Given the description of an element on the screen output the (x, y) to click on. 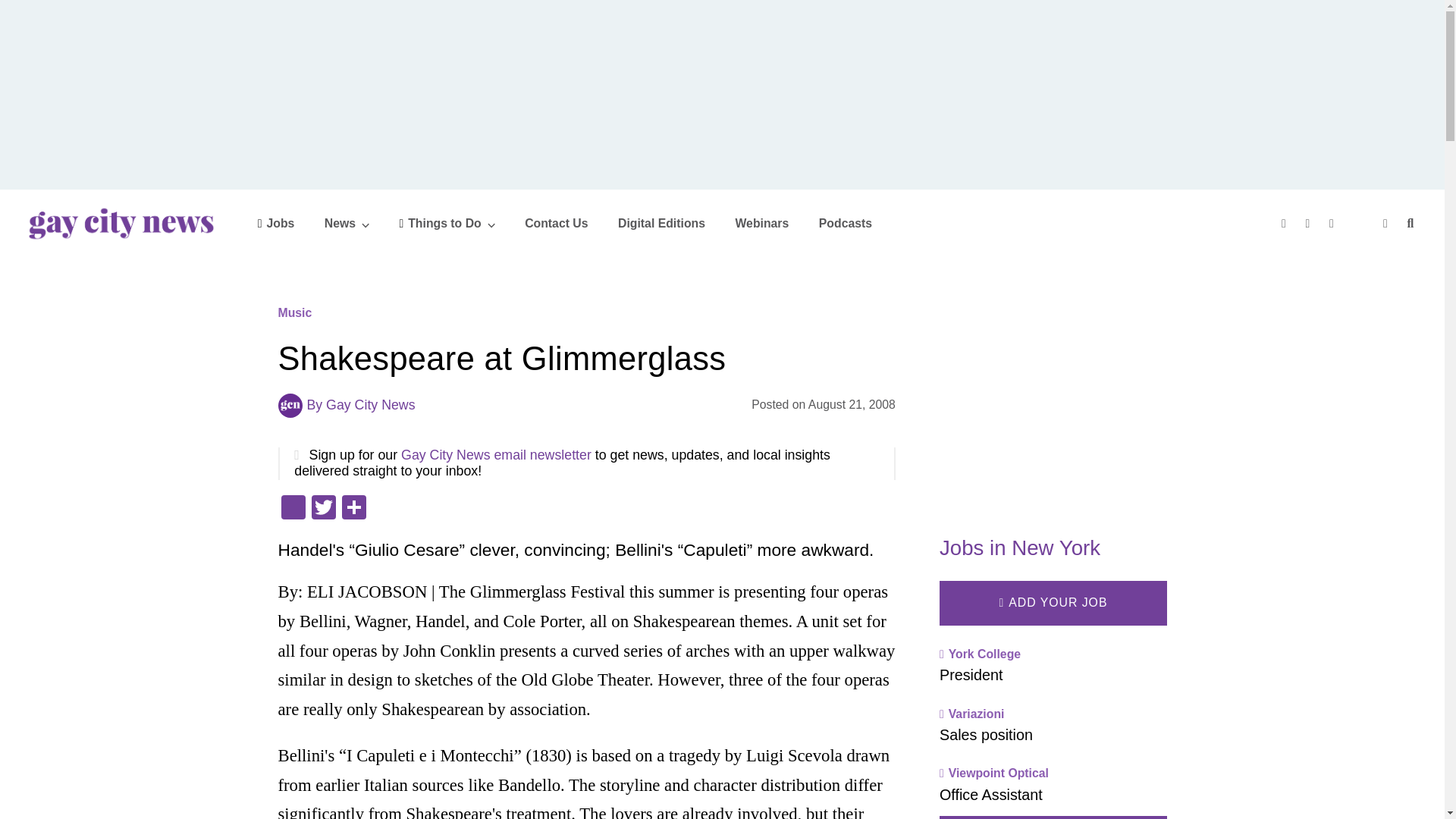
Posts by Gay City News (370, 404)
Facebook (292, 509)
Twitter (322, 509)
News (346, 223)
Podcasts (845, 223)
Jobs (276, 223)
Contact Us (556, 223)
Digital Editions (660, 223)
Things to Do (446, 223)
Webinars (762, 223)
